Given the description of an element on the screen output the (x, y) to click on. 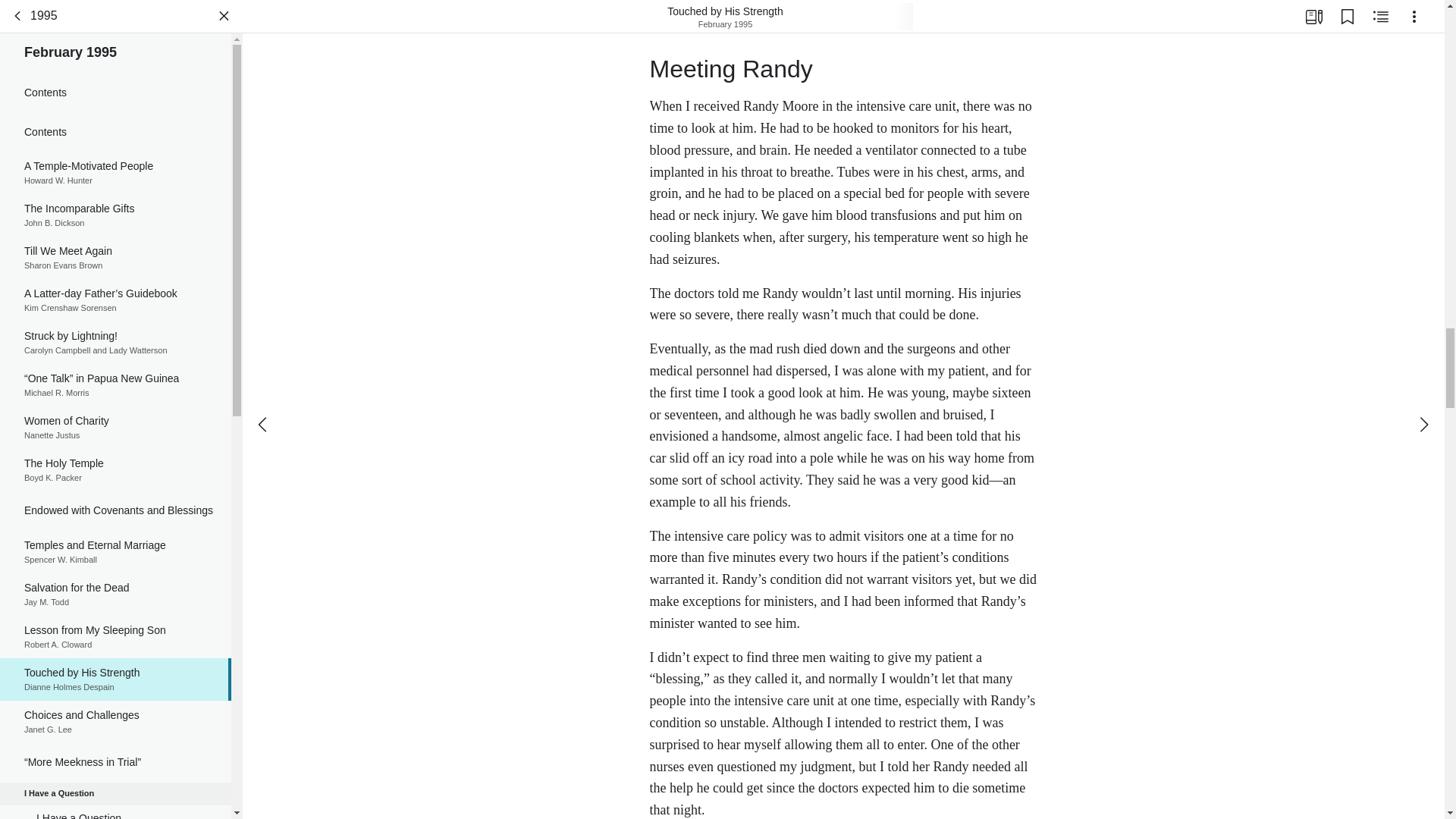
Family History Centennial (115, 186)
First Presidency Extols Meaning of Christmas (115, 456)
In the Spotlight (115, 611)
Tennessee Temple Announced (115, 496)
